Given the description of an element on the screen output the (x, y) to click on. 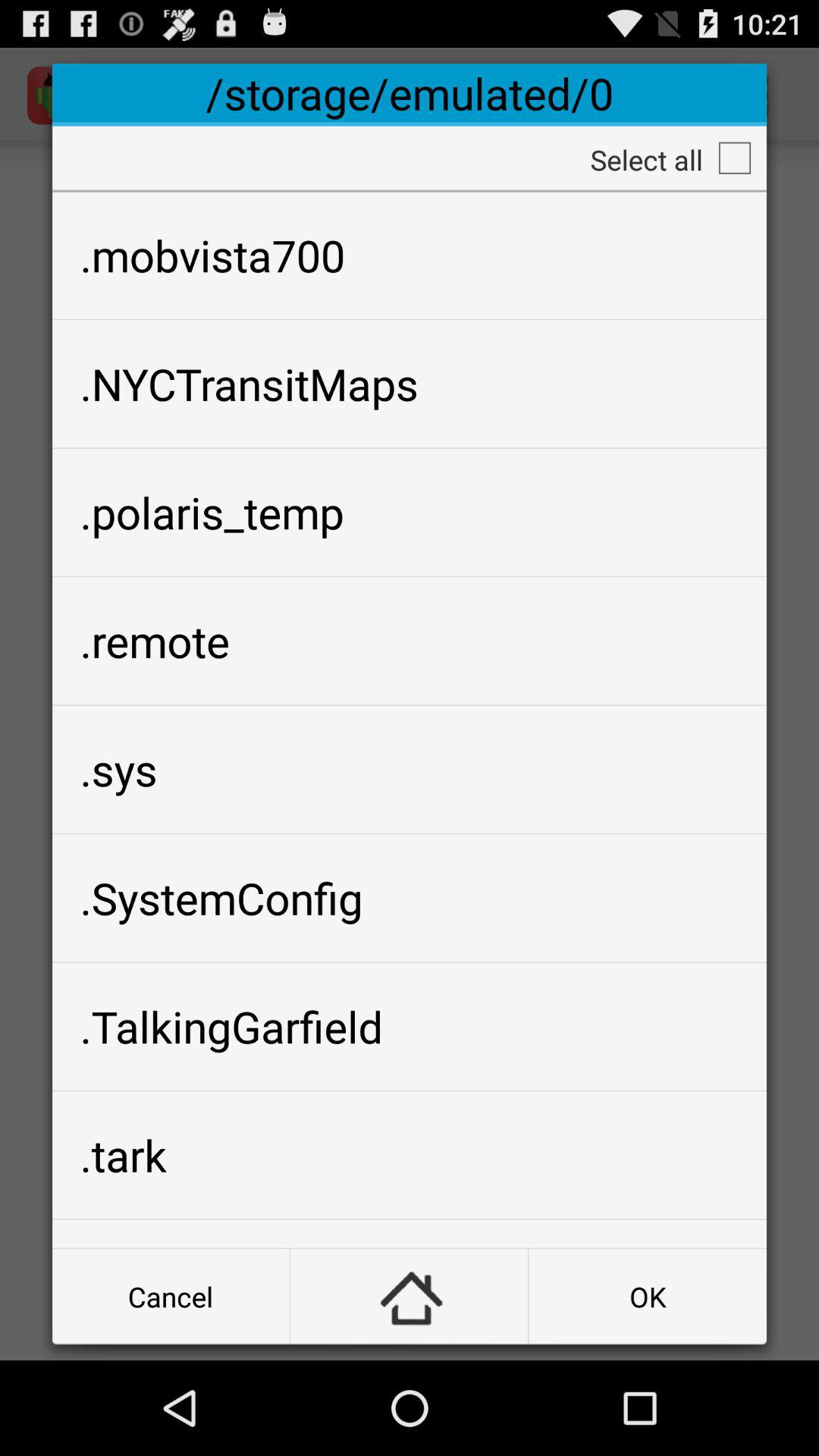
press the icon next to (647, 1296)
